Given the description of an element on the screen output the (x, y) to click on. 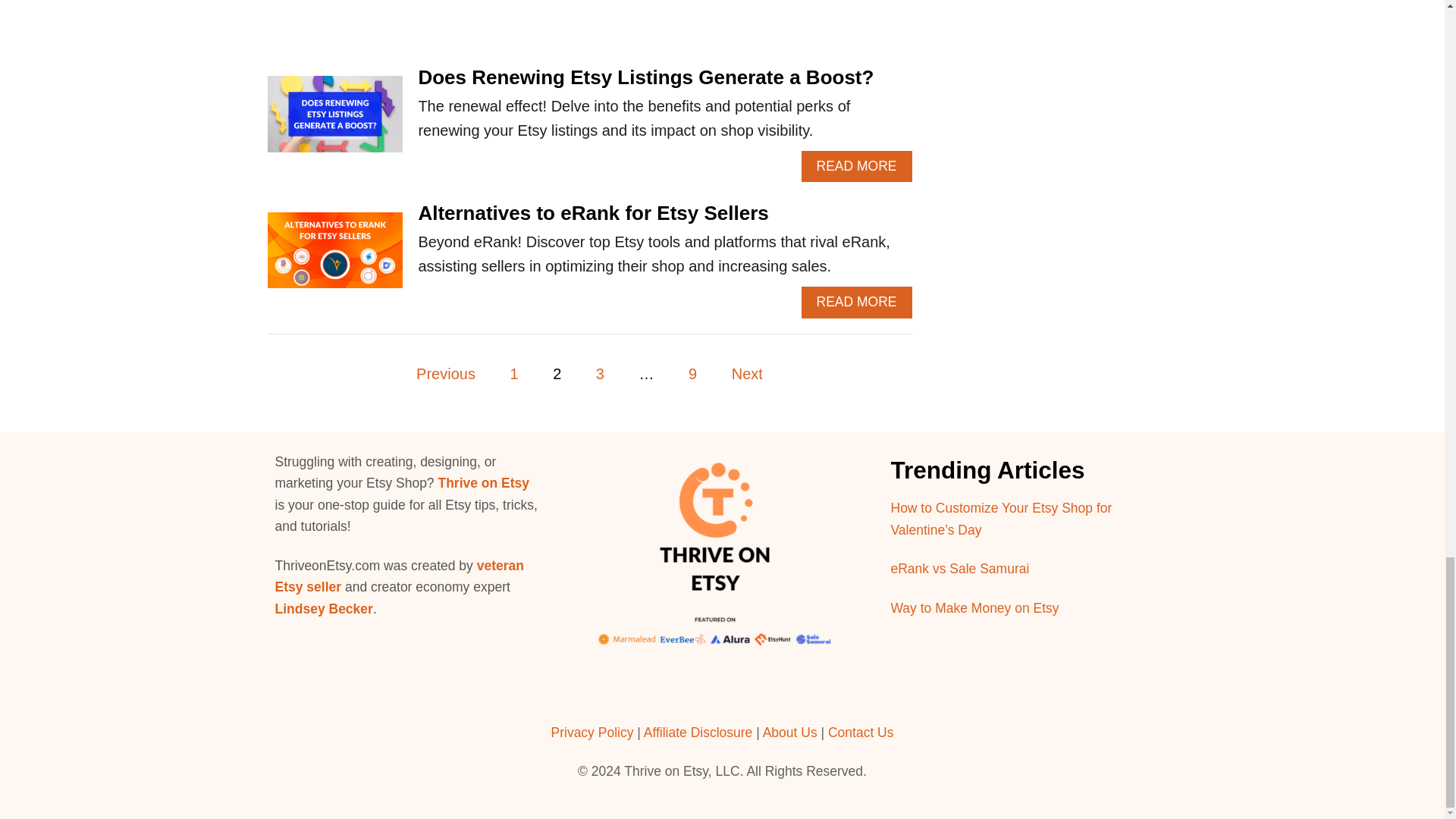
Does Renewing Etsy Listings Generate a Boost? (645, 77)
Alternatives to eRank for Etsy Sellers (334, 257)
Does Renewing Etsy Listings Generate a Boost? (334, 121)
